Given the description of an element on the screen output the (x, y) to click on. 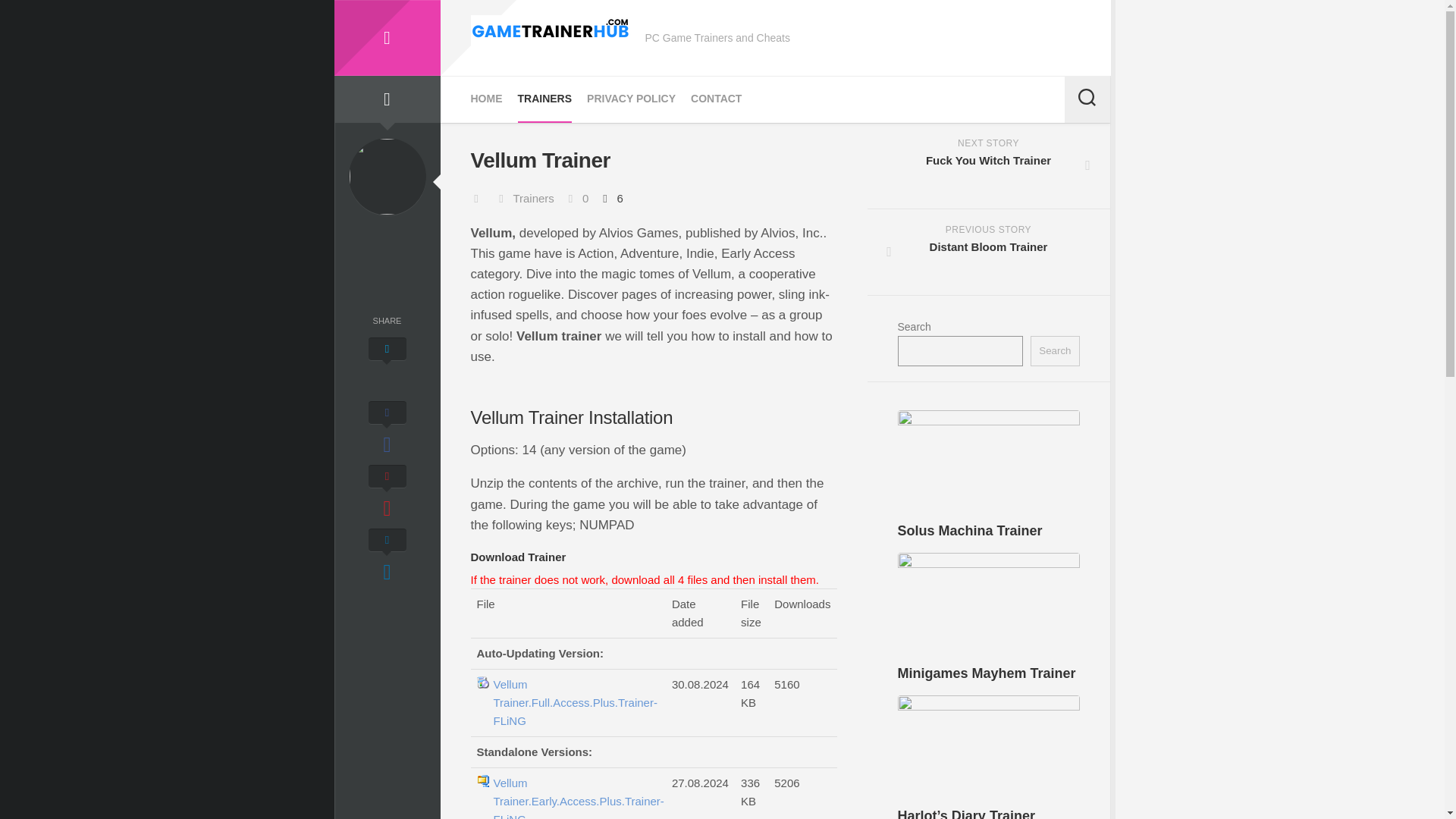
Vellum Trainer.Early.Access.Plus.12.Trainer-FLiNG (988, 252)
CONTACT (575, 702)
Solus Machina Trainer (715, 98)
Vellum Trainer.Early.Access.Plus.Trainer-FLiNG (970, 530)
HOME (575, 796)
TRAINERS (988, 165)
PRIVACY POLICY (486, 98)
Vellum Trainer.Early.Access.Plus.12.Trainer-FLiNG (544, 98)
